Given the description of an element on the screen output the (x, y) to click on. 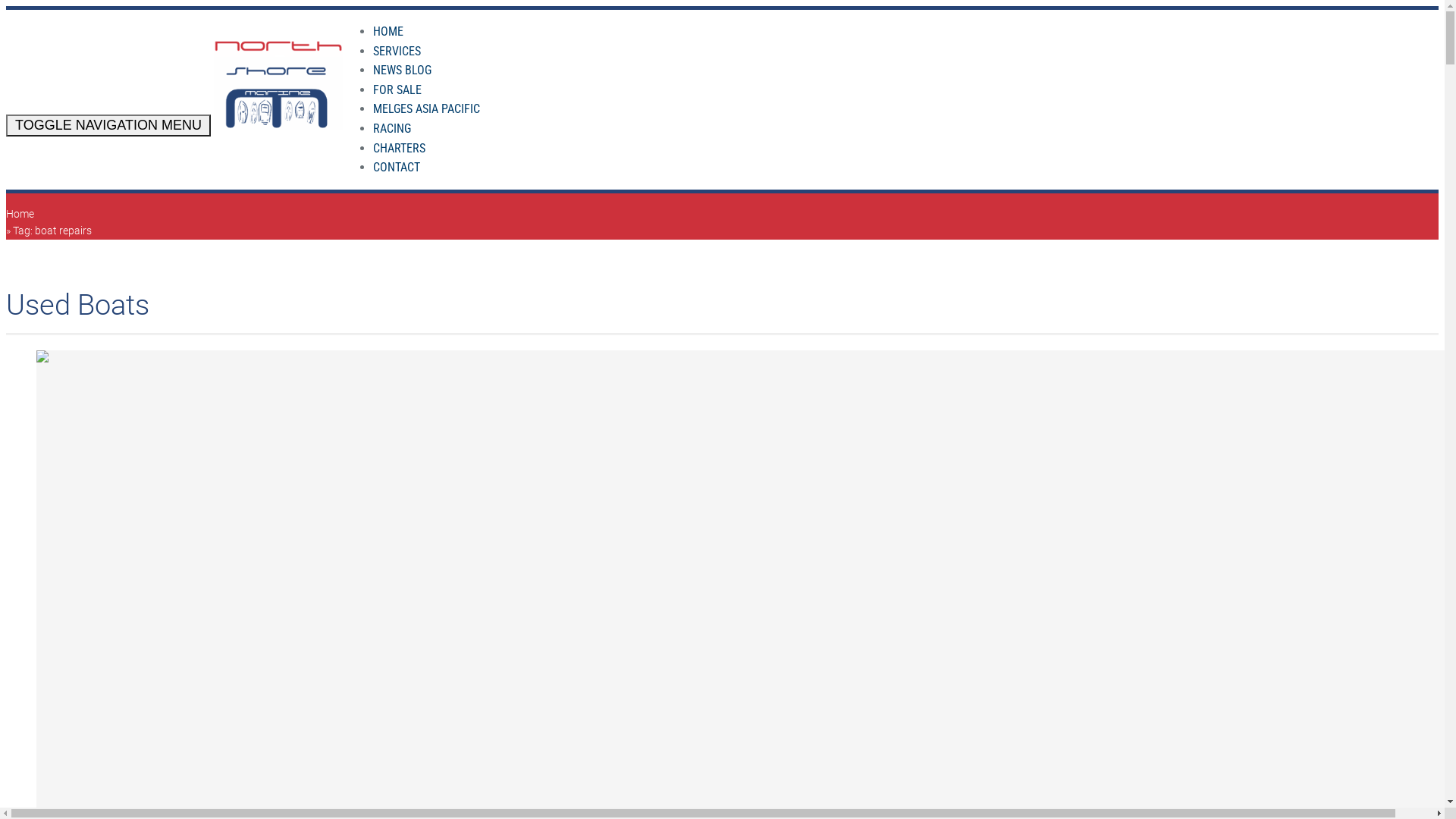
CONTACT Element type: text (396, 166)
TOGGLE NAVIGATION MENU Element type: text (108, 125)
NEWS BLOG Element type: text (402, 69)
MELGES ASIA PACIFIC Element type: text (426, 108)
FOR SALE Element type: text (397, 89)
CHARTERS Element type: text (399, 147)
Home Element type: text (20, 213)
RACING Element type: text (392, 128)
